Given the description of an element on the screen output the (x, y) to click on. 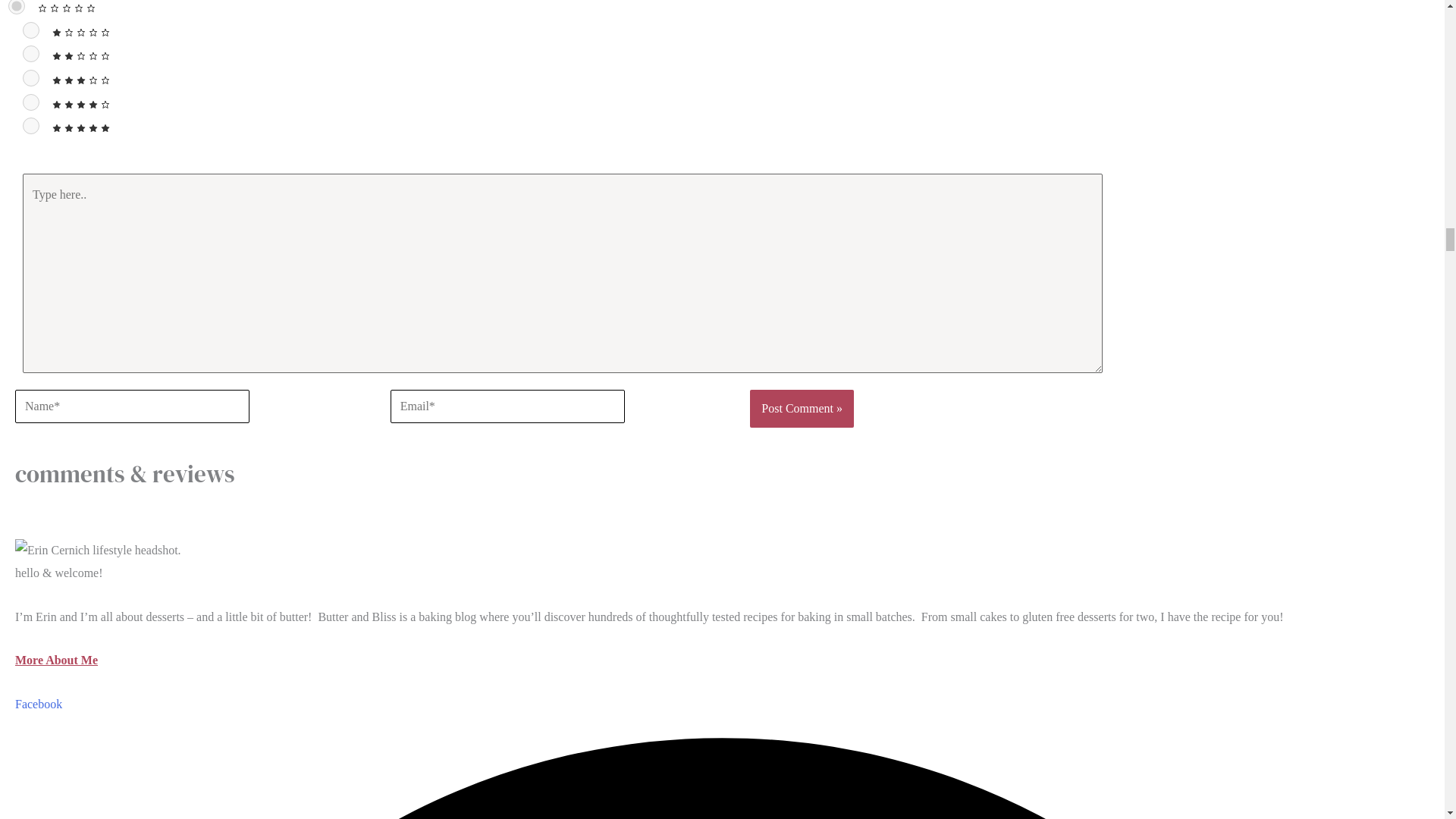
0 (16, 7)
2 (31, 53)
1 (31, 30)
More About Me (55, 659)
